Given the description of an element on the screen output the (x, y) to click on. 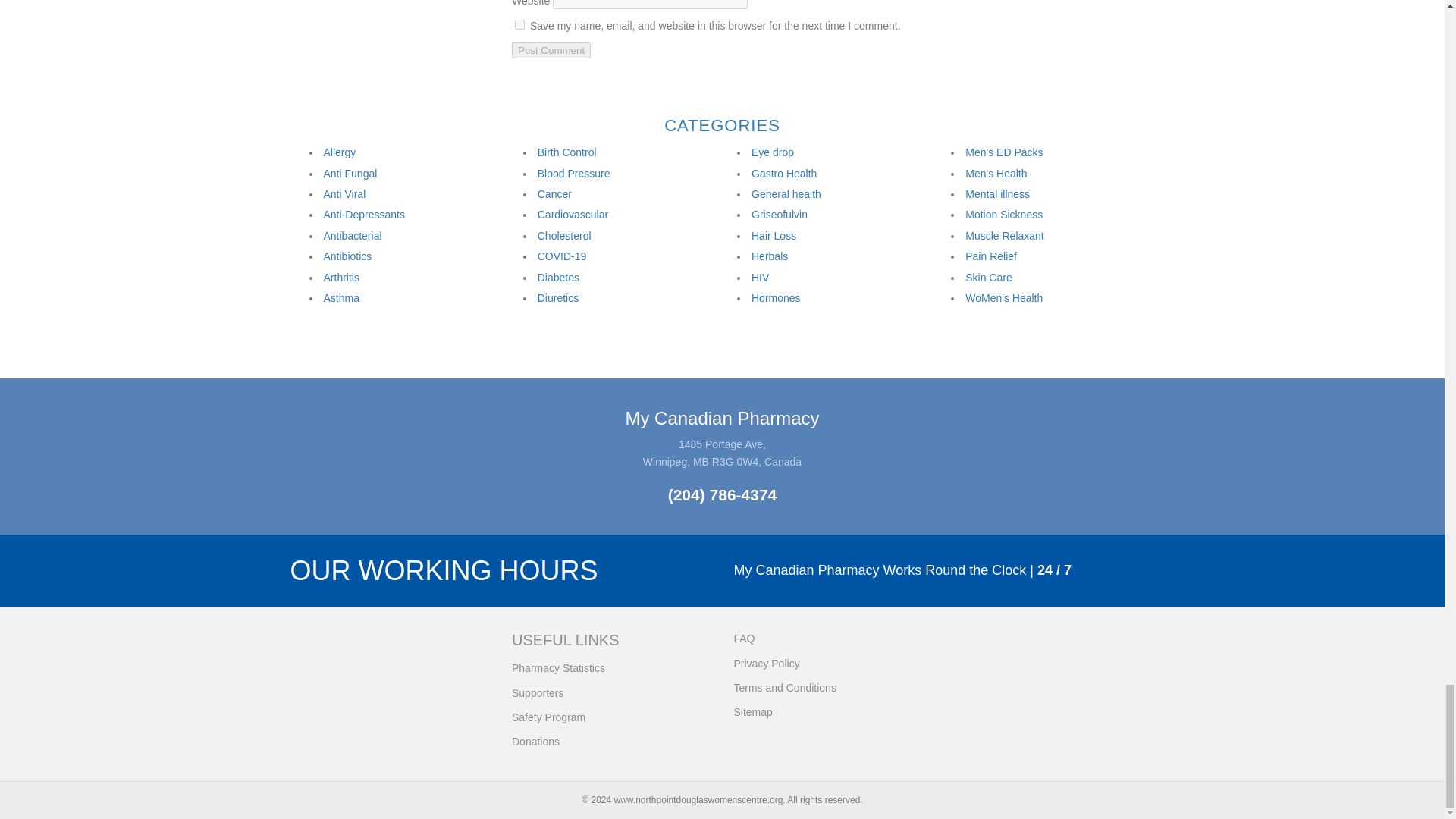
yes (519, 23)
Post Comment (551, 50)
Post Comment (551, 50)
